Given the description of an element on the screen output the (x, y) to click on. 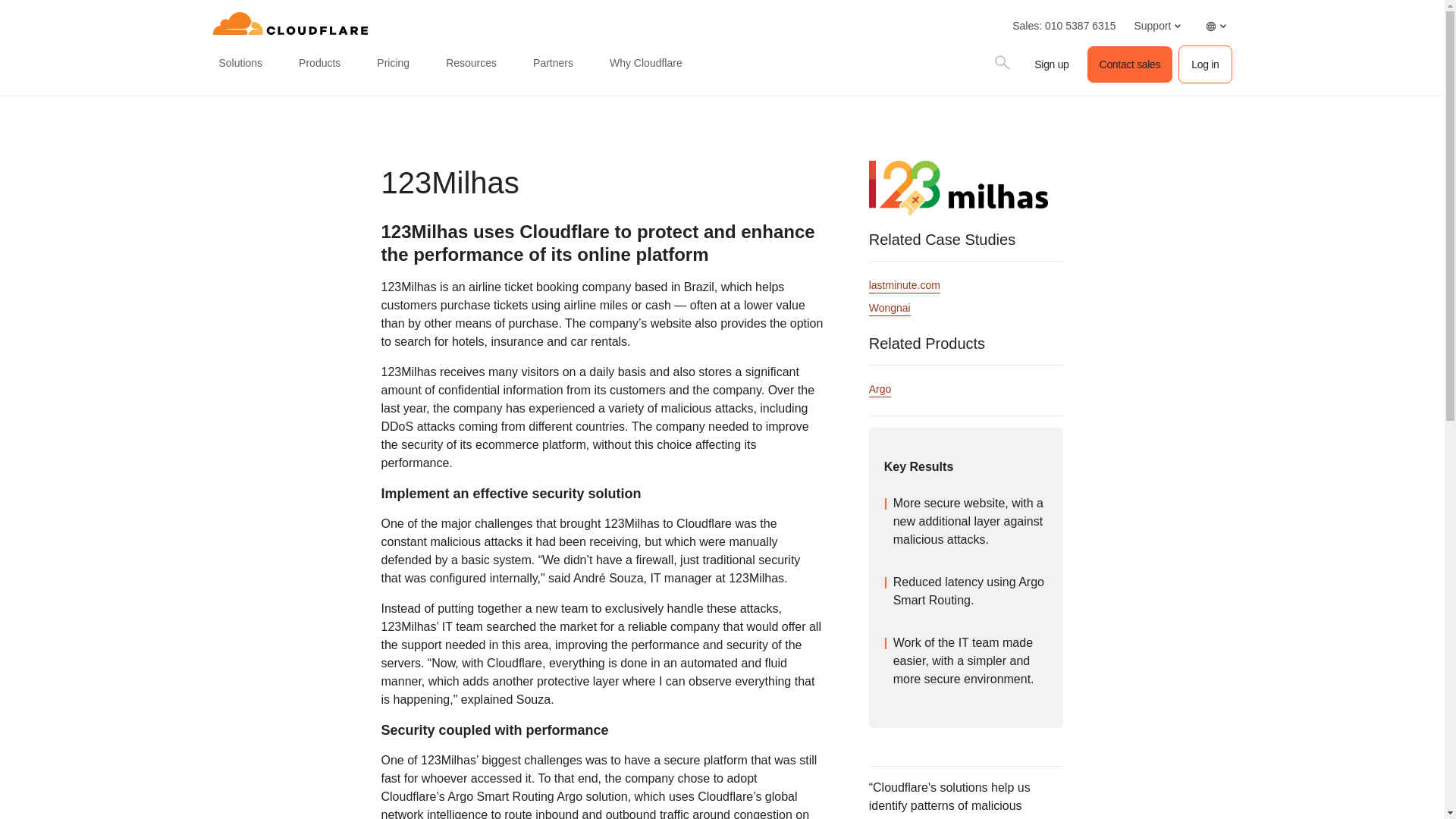
Partners (553, 63)
Resources (470, 63)
Why Cloudflare (646, 63)
Argo (880, 390)
Products (319, 63)
Wongnai (890, 309)
lastminute.com (904, 286)
Pricing (392, 63)
Support (1156, 26)
Sales: 010 5387 6315 (1063, 26)
